Given the description of an element on the screen output the (x, y) to click on. 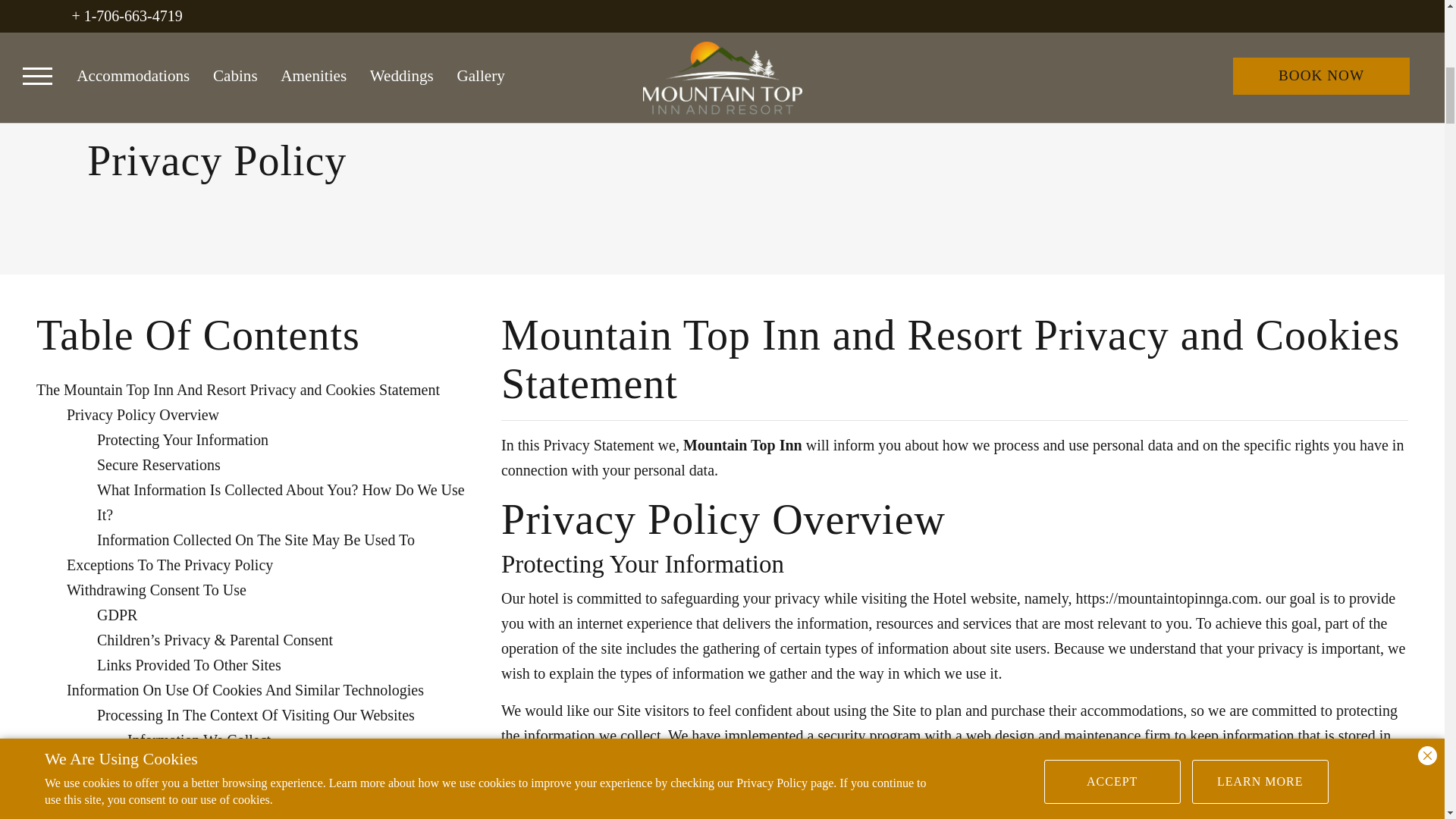
Table Of Contents (197, 335)
Privacy Policy Overview (142, 414)
Protecting Your Information (182, 439)
